Given the description of an element on the screen output the (x, y) to click on. 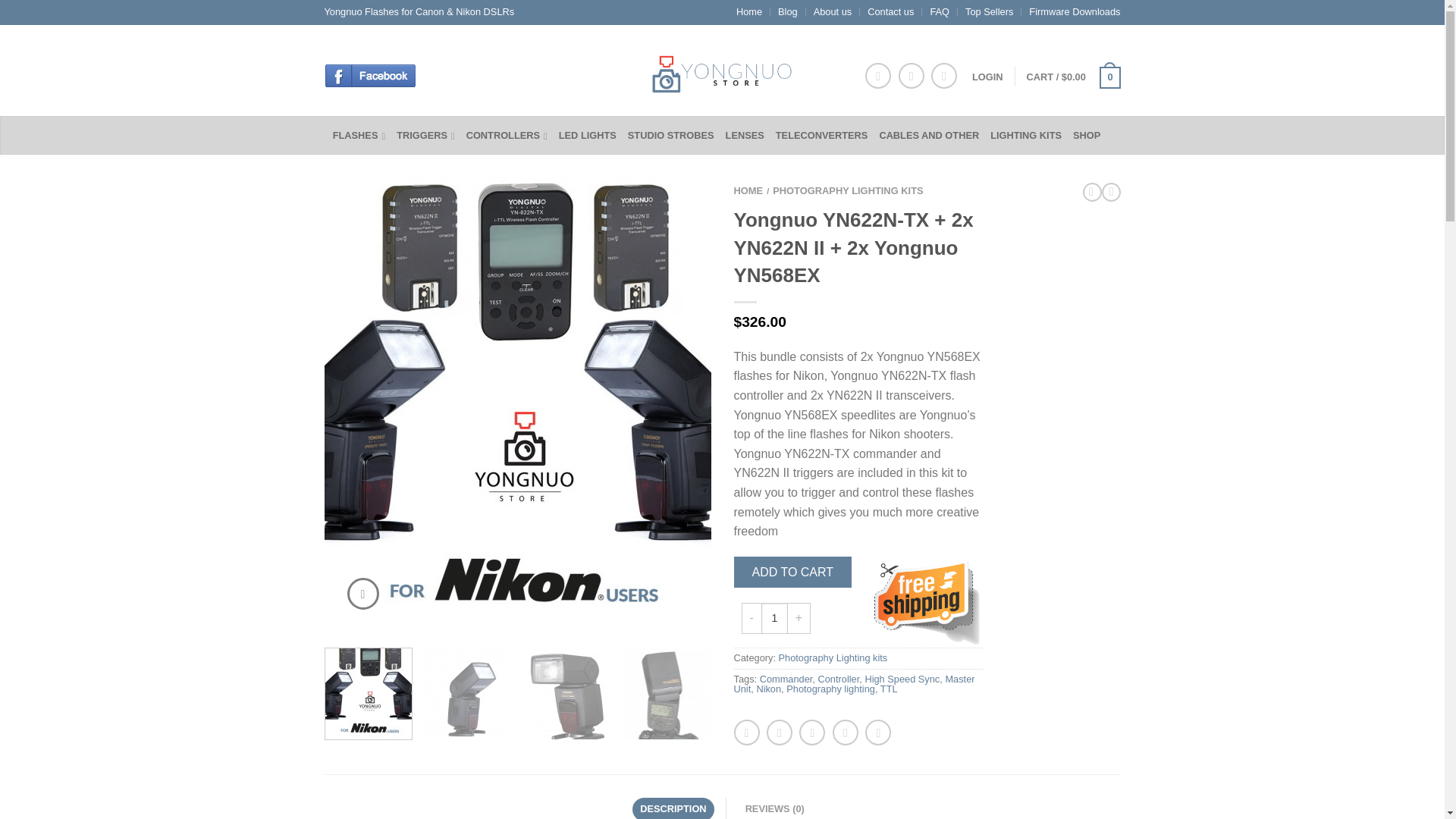
LIGHTING KITS (1031, 135)
SHOP (1092, 135)
Contact us (890, 11)
CABLES AND OTHER (934, 135)
STUDIO STROBES (676, 135)
LED LIGHTS (593, 135)
FAQ (939, 11)
TELECONVERTERS (827, 135)
Home (748, 11)
LOGIN (987, 76)
FLASHES (364, 135)
LENSES (750, 135)
Top Sellers (989, 11)
CONTROLLERS (512, 135)
Firmware Downloads (1074, 11)
